Given the description of an element on the screen output the (x, y) to click on. 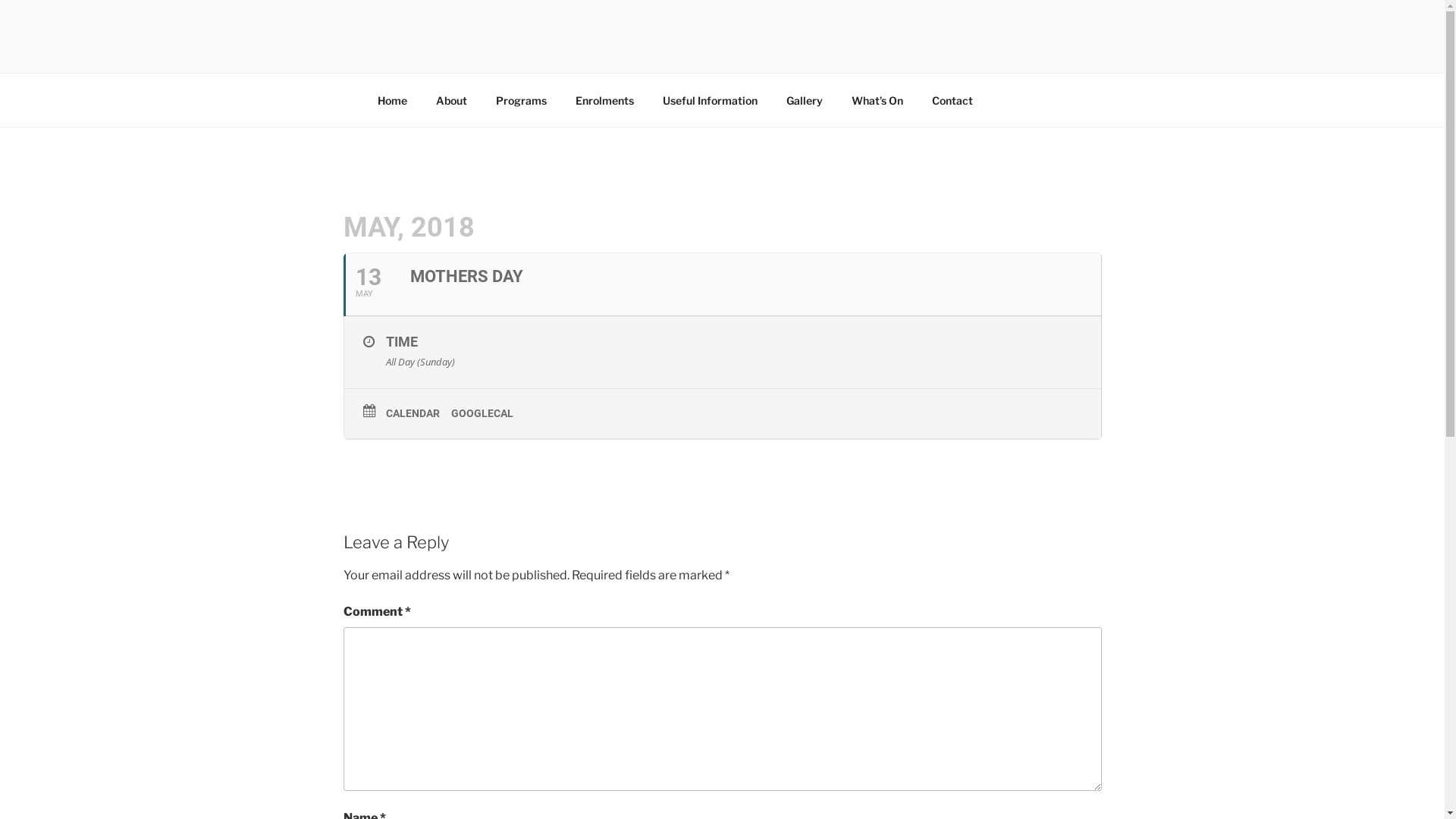
13
MAY
MOTHERS DAY Element type: text (721, 284)
Contact Element type: text (952, 100)
Gallery Element type: text (804, 100)
Programs Element type: text (520, 100)
WHITTLESEA PRECHOOL Element type: text (576, 52)
CALENDAR Element type: text (417, 413)
Useful Information Element type: text (709, 100)
Home Element type: text (392, 100)
Enrolments Element type: text (604, 100)
GOOGLECAL Element type: text (487, 413)
About Element type: text (451, 100)
